Given the description of an element on the screen output the (x, y) to click on. 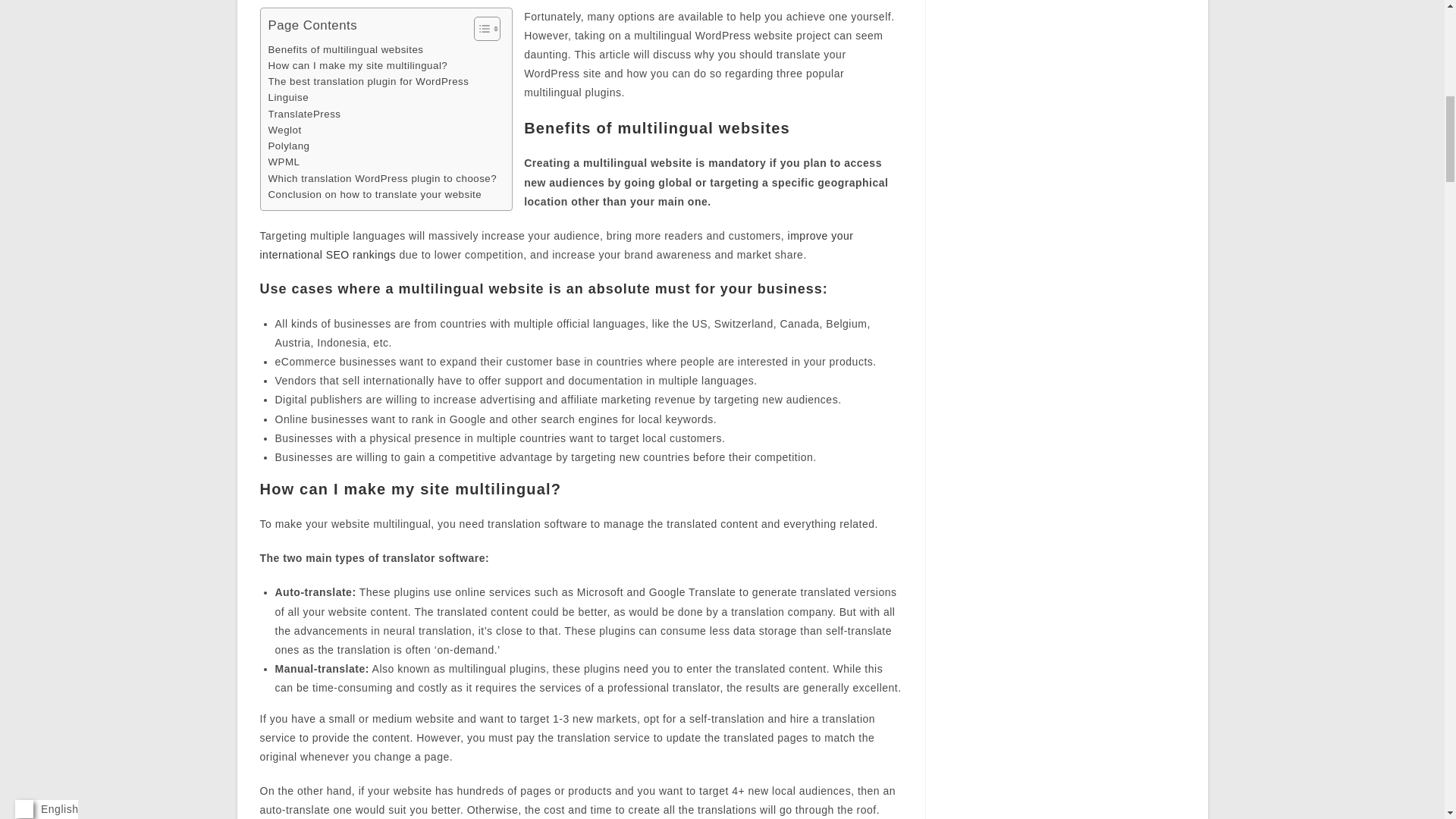
TranslatePress (303, 114)
Conclusion on how to translate your website (374, 194)
Linguise (287, 97)
WPML (283, 161)
The best translation plugin for WordPress (367, 81)
How can I make my site multilingual? (357, 65)
Benefits of multilingual websites (345, 48)
Polylang (288, 145)
Which translation WordPress plugin to choose? (382, 178)
Weglot (284, 130)
